Given the description of an element on the screen output the (x, y) to click on. 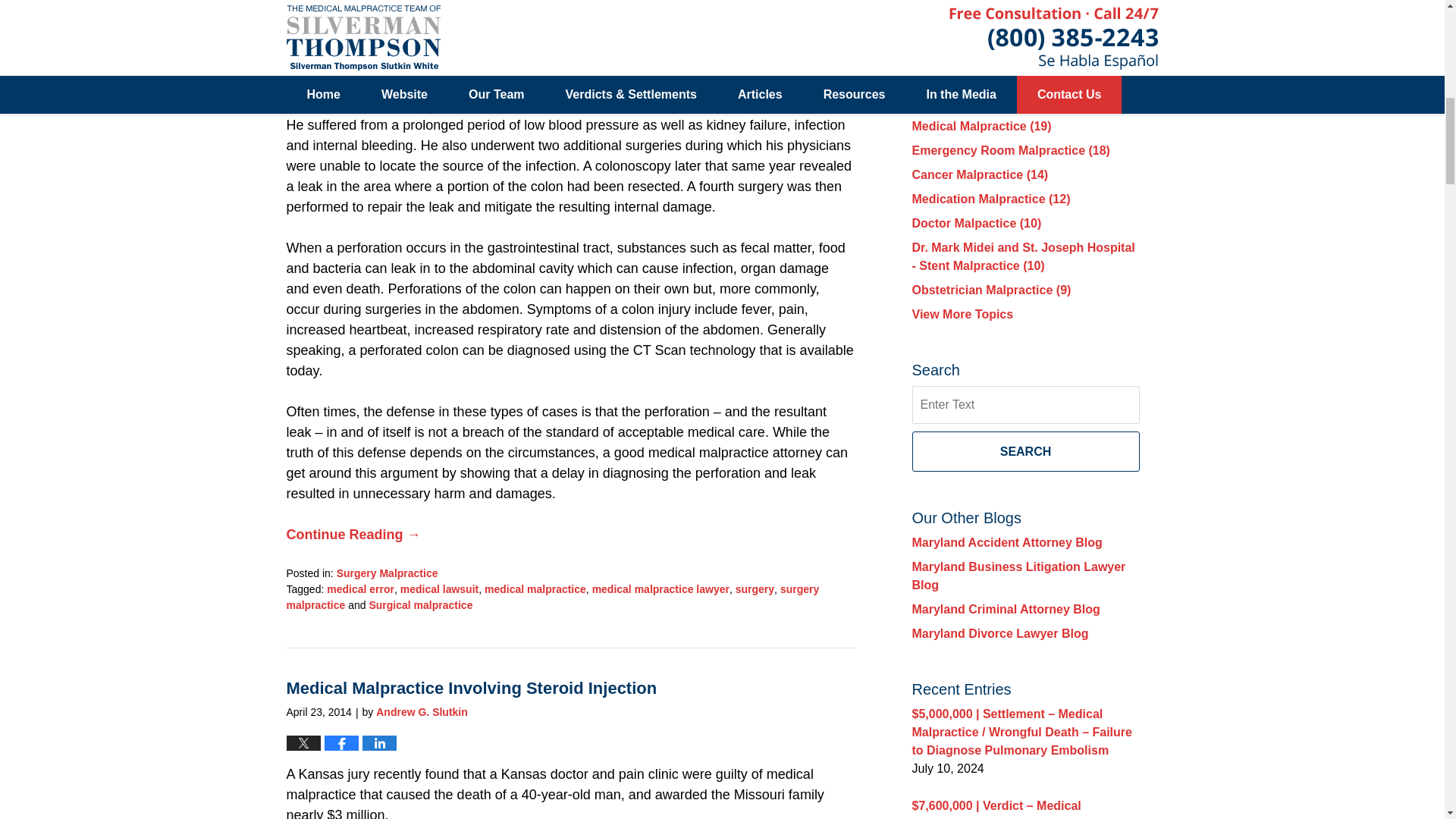
View all posts tagged with medical error (360, 589)
View all posts tagged with surgery (754, 589)
View all posts in Surgery Malpractice (387, 573)
View all posts tagged with medical malpractice lawyer (660, 589)
View all posts tagged with medical lawsuit (439, 589)
View all posts tagged with medical malpractice (535, 589)
View all posts tagged with surgery malpractice (552, 596)
